Given the description of an element on the screen output the (x, y) to click on. 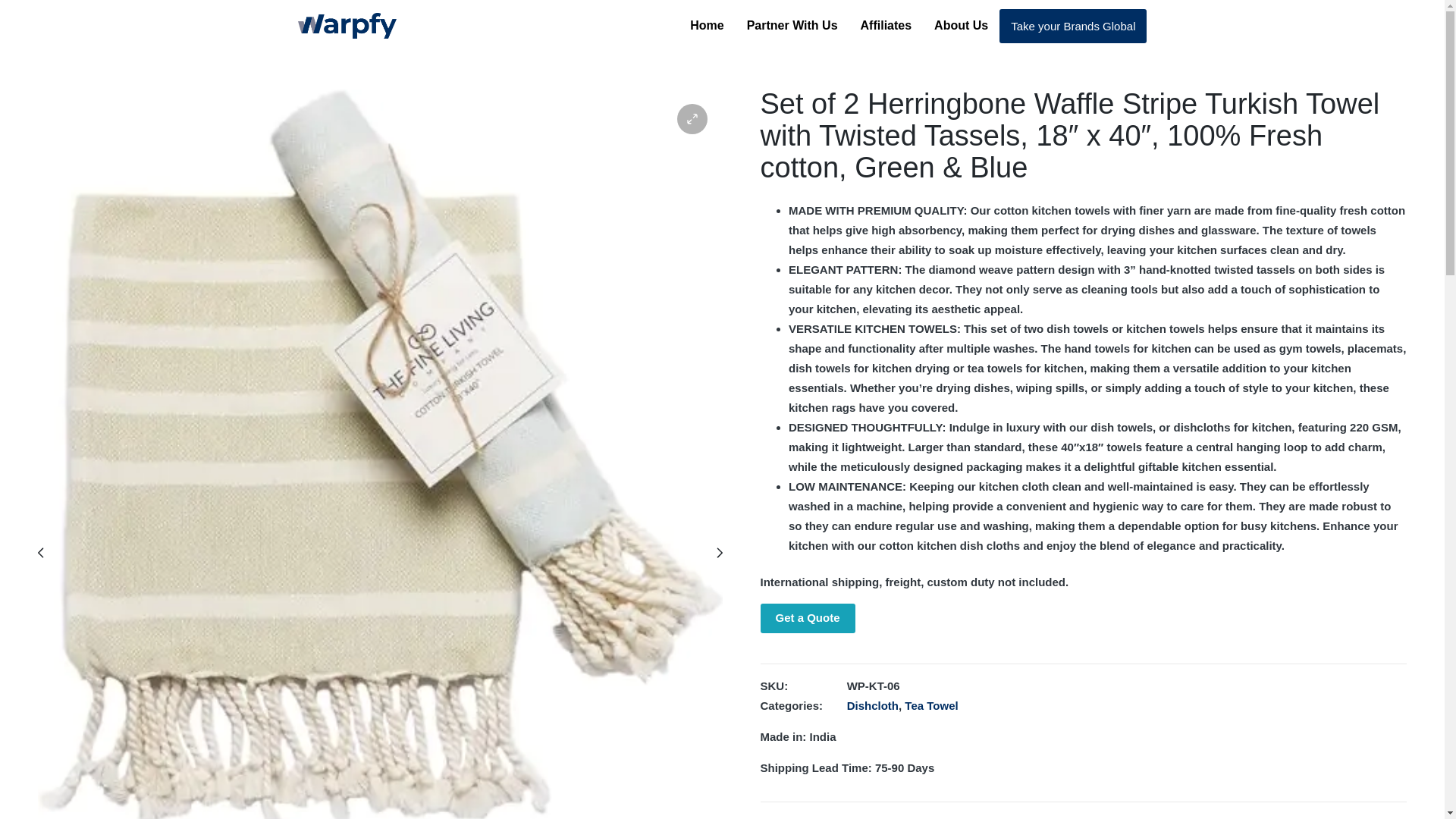
Home (706, 25)
Take your Brands Global (1072, 26)
About Us (960, 25)
Affiliates (885, 25)
Get a Quote (807, 618)
Partner With Us (791, 25)
Tea Towel (931, 705)
Dishcloth (872, 705)
